Given the description of an element on the screen output the (x, y) to click on. 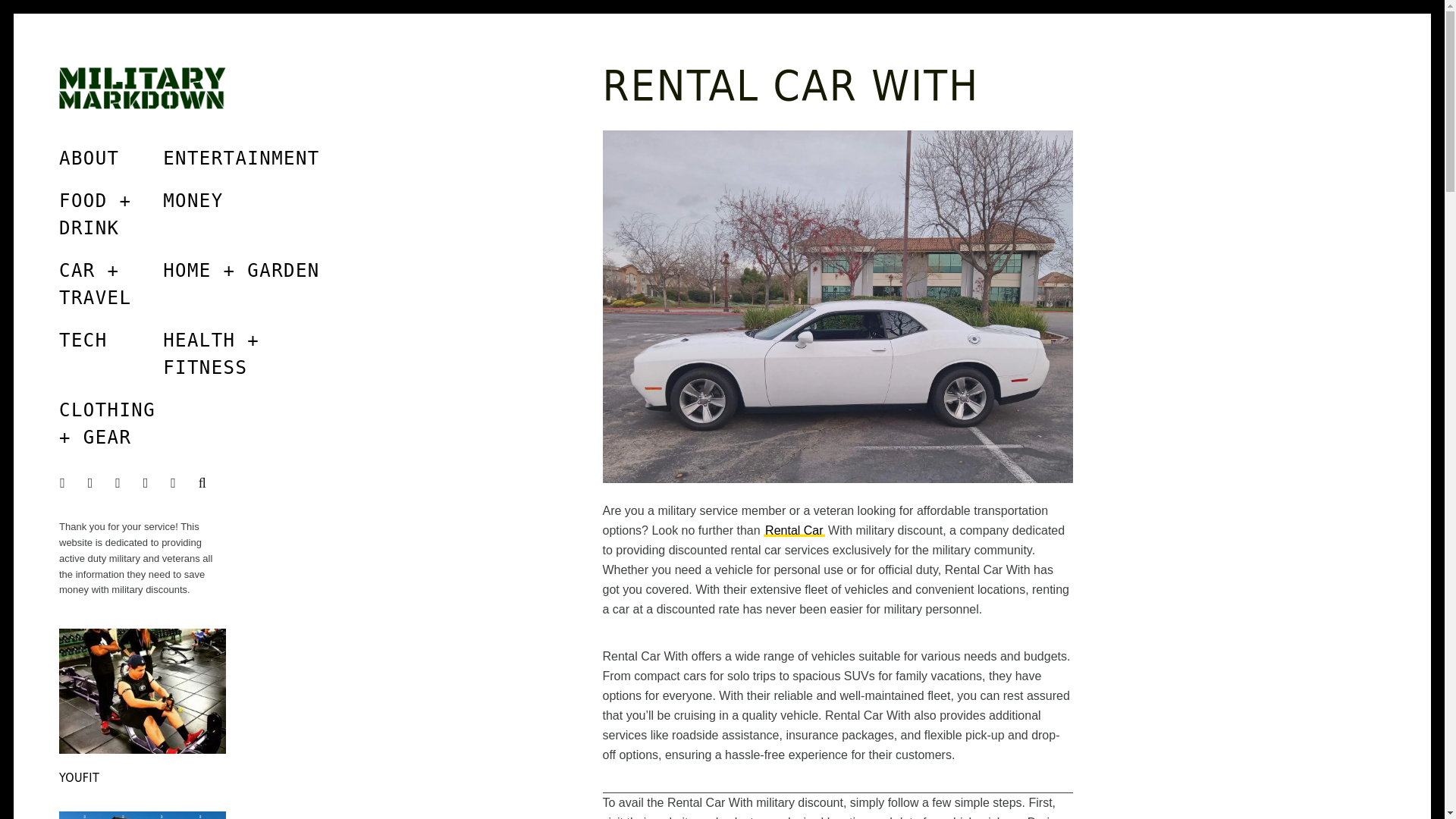
Rental Car (793, 530)
MONEY (192, 200)
SEARCH (204, 483)
ENTERTAINMENT (240, 158)
YOUFIT (79, 777)
MILITARY MARKDOWN (165, 168)
TECH (82, 340)
ABOUT (88, 158)
